Given the description of an element on the screen output the (x, y) to click on. 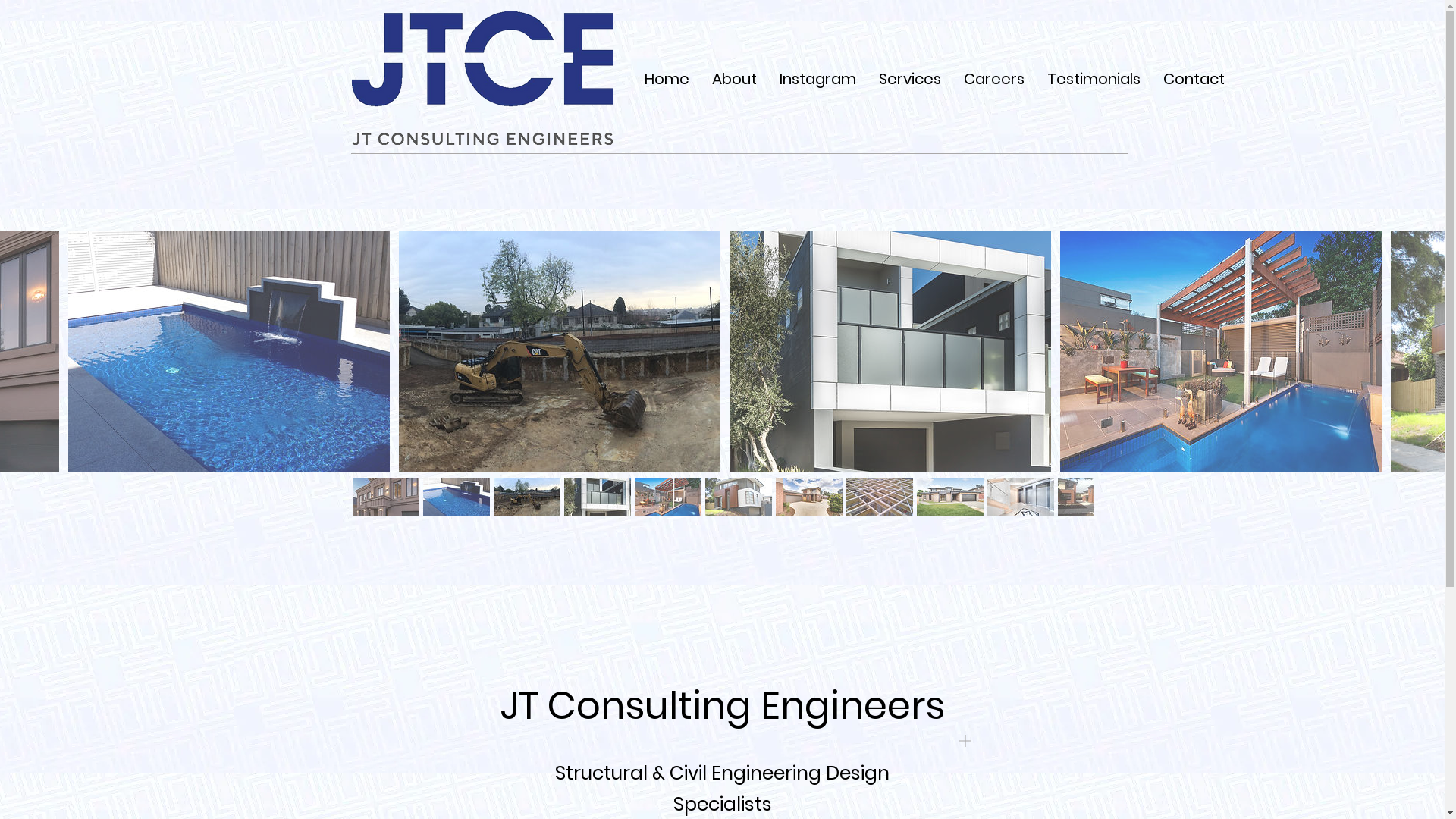
Home Element type: text (665, 78)
Careers Element type: text (993, 78)
Contact Element type: text (1193, 78)
Instagram Element type: text (816, 78)
Testimonials Element type: text (1093, 78)
Picture1.png Element type: hover (482, 77)
Services Element type: text (909, 78)
About Element type: text (734, 78)
